Given the description of an element on the screen output the (x, y) to click on. 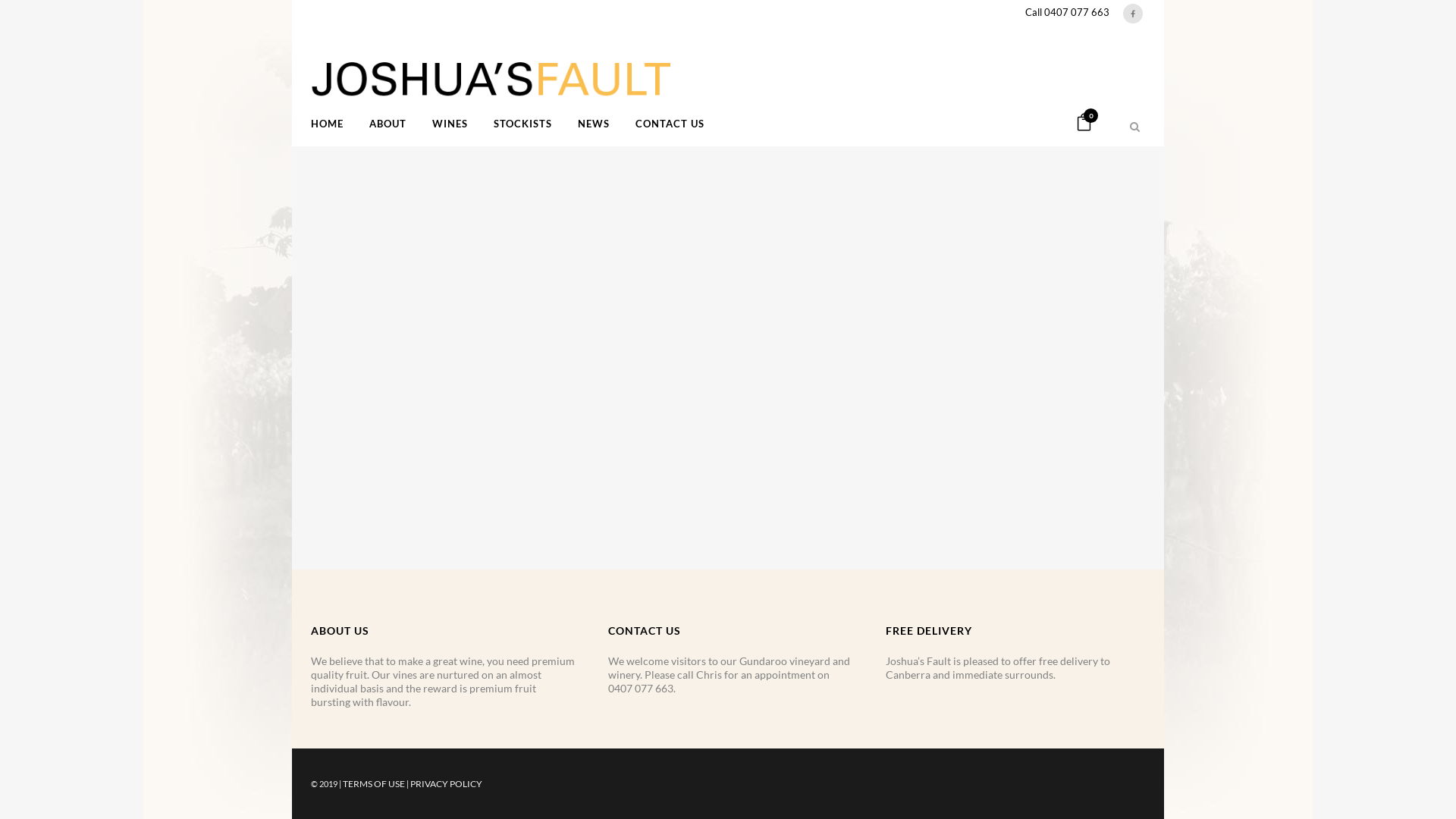
STOCKISTS Element type: text (522, 123)
0 Element type: text (1083, 123)
ABOUT Element type: text (387, 123)
CONTACT US Element type: text (669, 123)
PRIVACY POLICY Element type: text (446, 783)
NEWS Element type: text (593, 123)
HOME Element type: text (333, 123)
TERMS OF USE Element type: text (373, 783)
WINES Element type: text (449, 123)
